Given the description of an element on the screen output the (x, y) to click on. 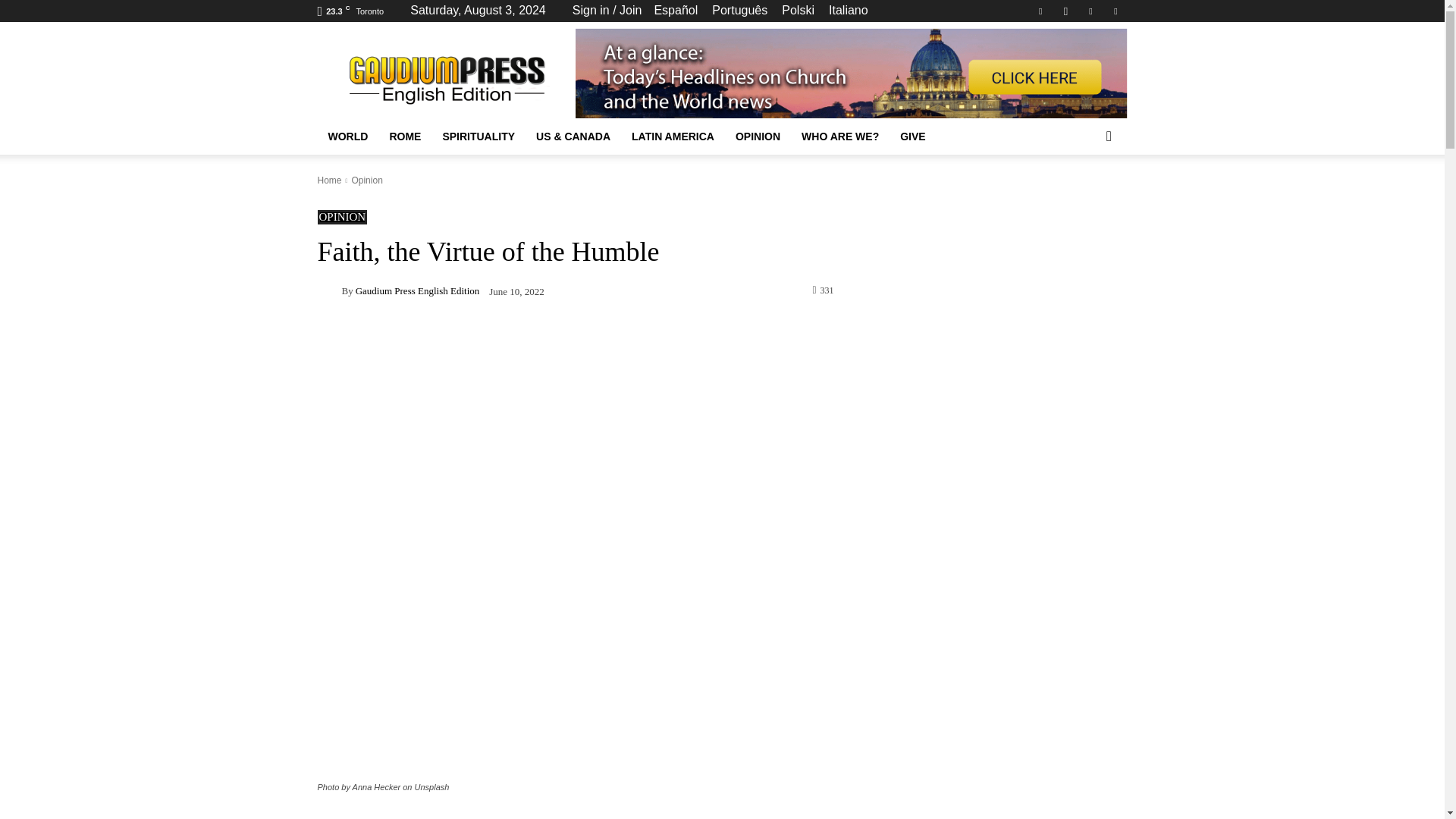
Italiano (847, 10)
WORLD (347, 135)
Instagram (1065, 10)
Polski (797, 10)
RSS (1090, 10)
Twitter (1114, 10)
Facebook (1040, 10)
